Given the description of an element on the screen output the (x, y) to click on. 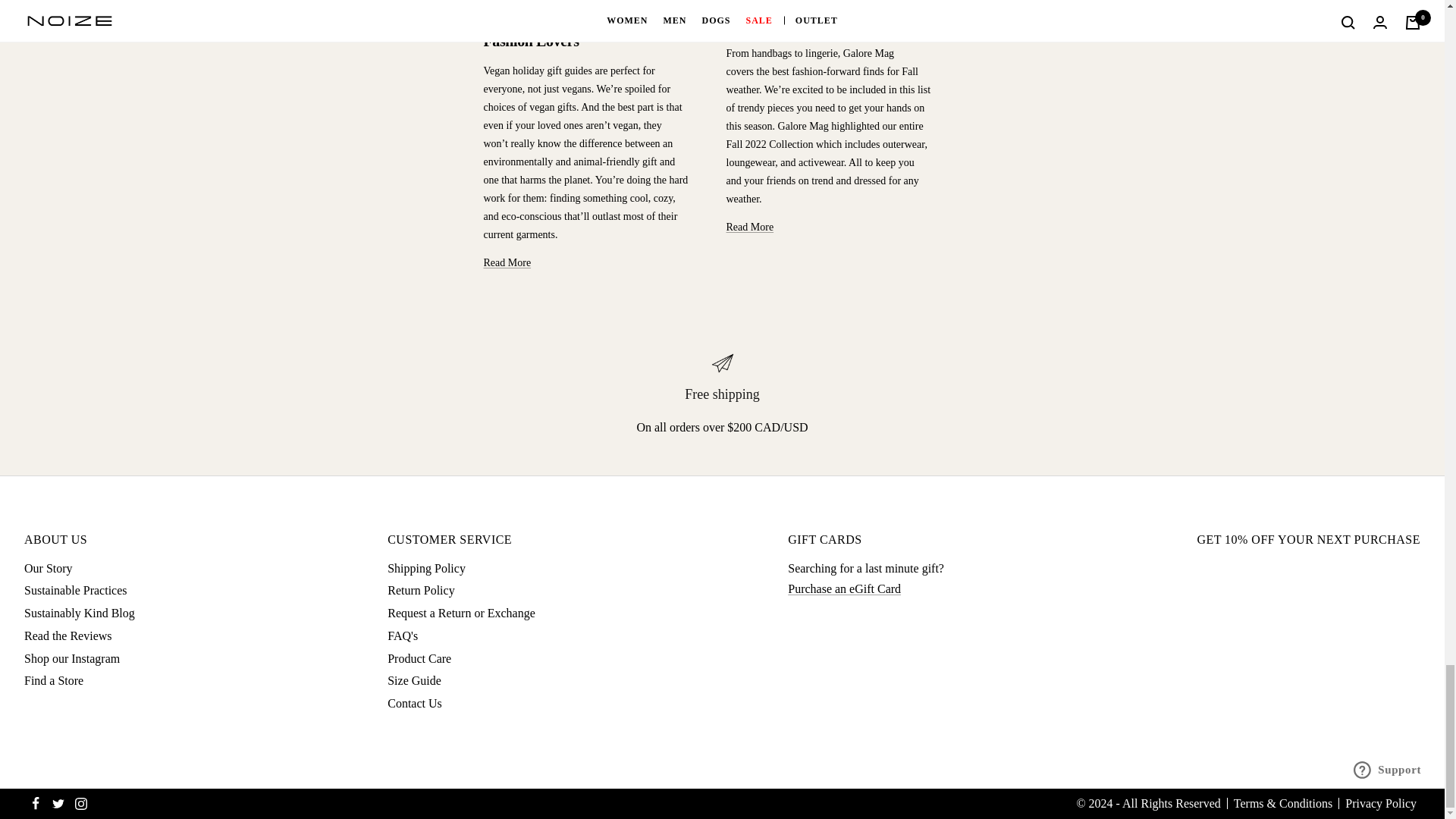
E-Gift Cards (844, 588)
Read More (507, 262)
A Vegan Holiday Gift Guide For Fashion Lovers (583, 31)
BEHIND THE COLLECTION (557, 1)
